Given the description of an element on the screen output the (x, y) to click on. 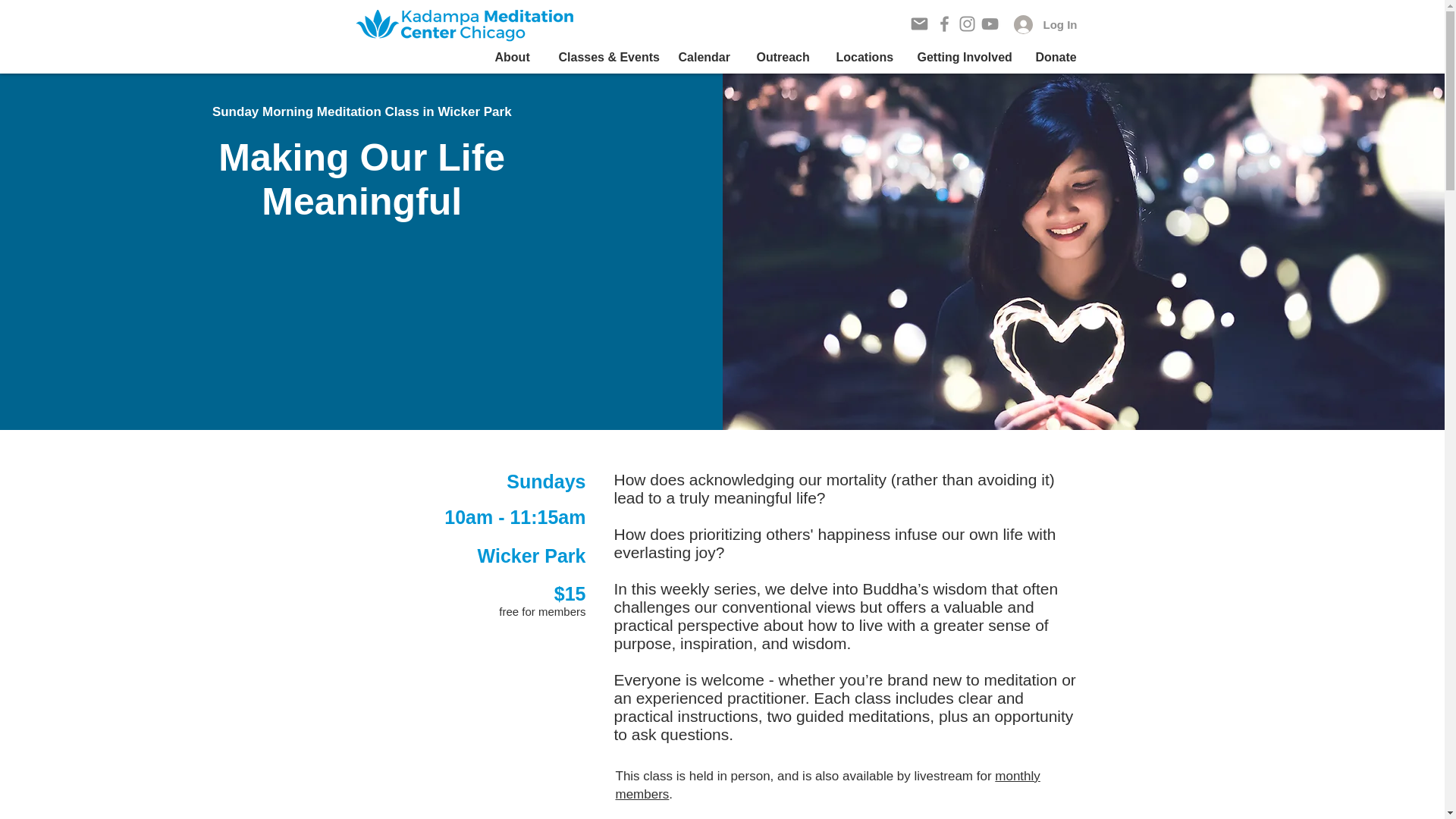
Outreach (784, 56)
Calendar (705, 56)
Locations (865, 56)
Log In (1045, 24)
monthly members (828, 785)
About (515, 56)
Donate (1058, 56)
Getting Involved (964, 56)
